Given the description of an element on the screen output the (x, y) to click on. 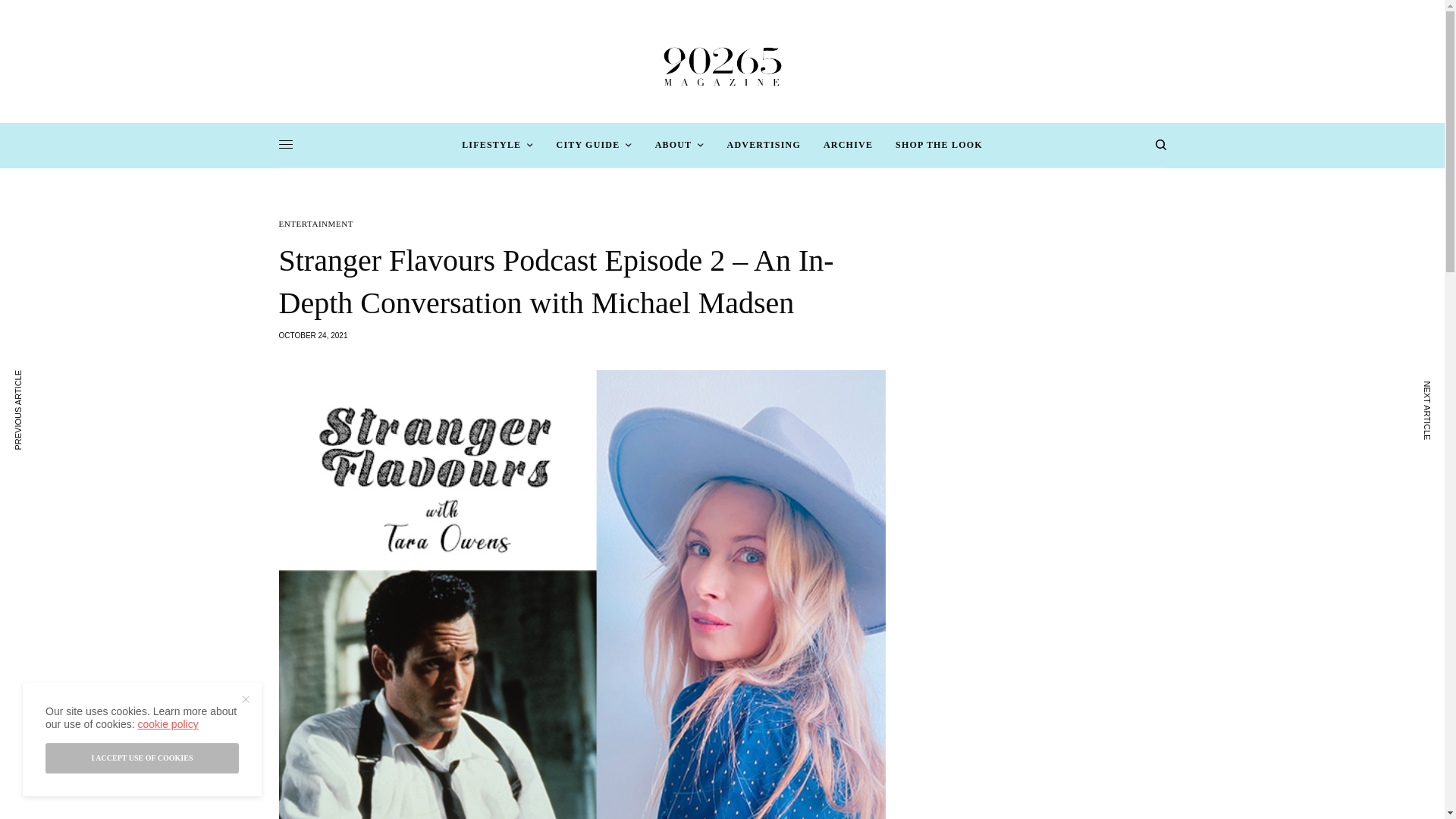
CITY GUIDE (593, 144)
SHOP THE LOOK (938, 144)
ADVERTISING (763, 144)
ABOUT (679, 144)
LIFESTYLE (496, 144)
ARCHIVE (848, 144)
Malibu 90265 Magazine (721, 61)
ENTERTAINMENT (316, 224)
